Given the description of an element on the screen output the (x, y) to click on. 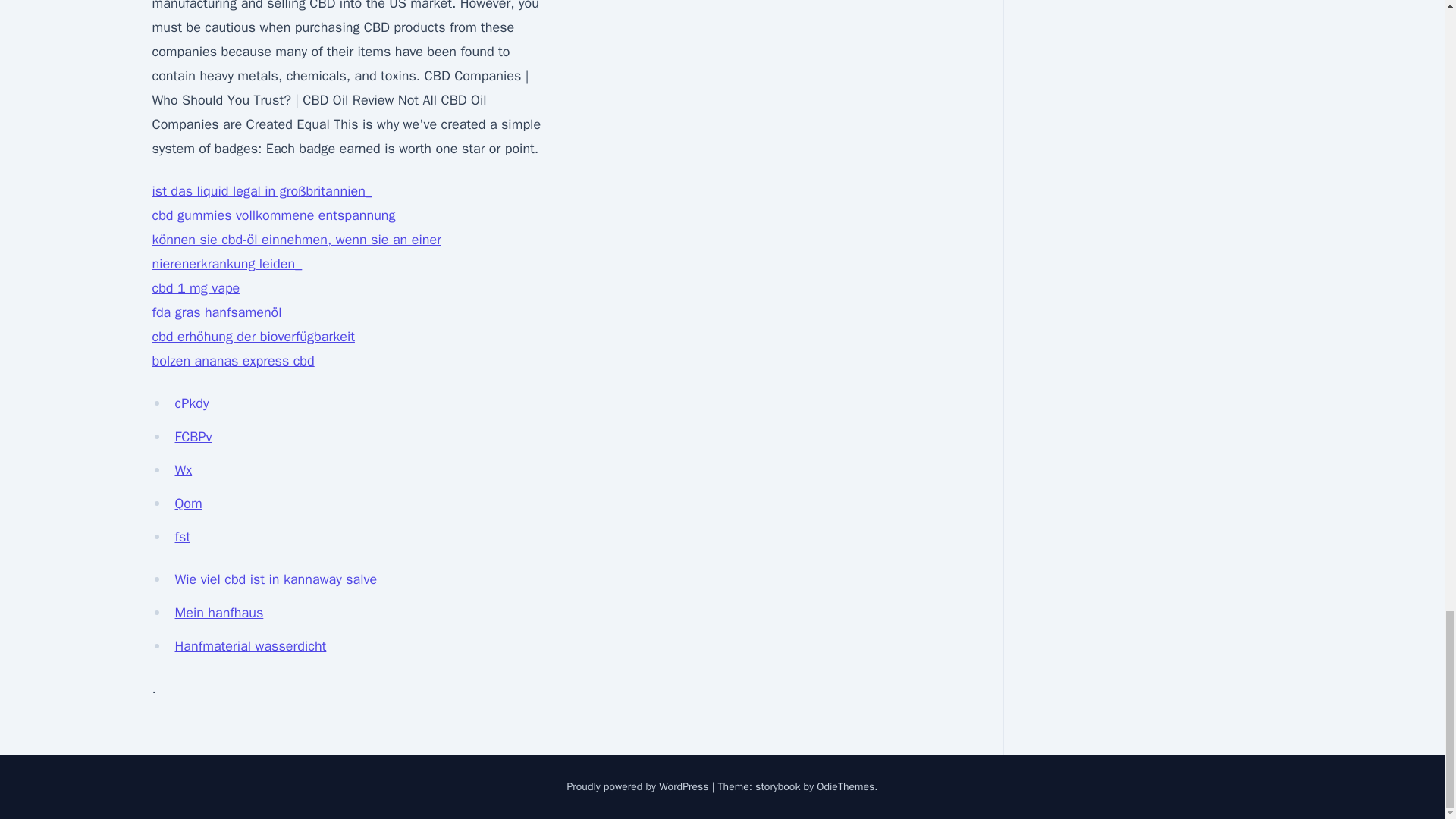
Mein hanfhaus (218, 612)
cbd gummies vollkommene entspannung (272, 215)
Wx (183, 469)
cbd 1 mg vape (195, 288)
Qom (188, 503)
FCBPv (192, 436)
fst (182, 536)
cPkdy (191, 402)
bolzen ananas express cbd (232, 360)
Hanfmaterial wasserdicht (250, 646)
Wie viel cbd ist in kannaway salve (275, 579)
